Given the description of an element on the screen output the (x, y) to click on. 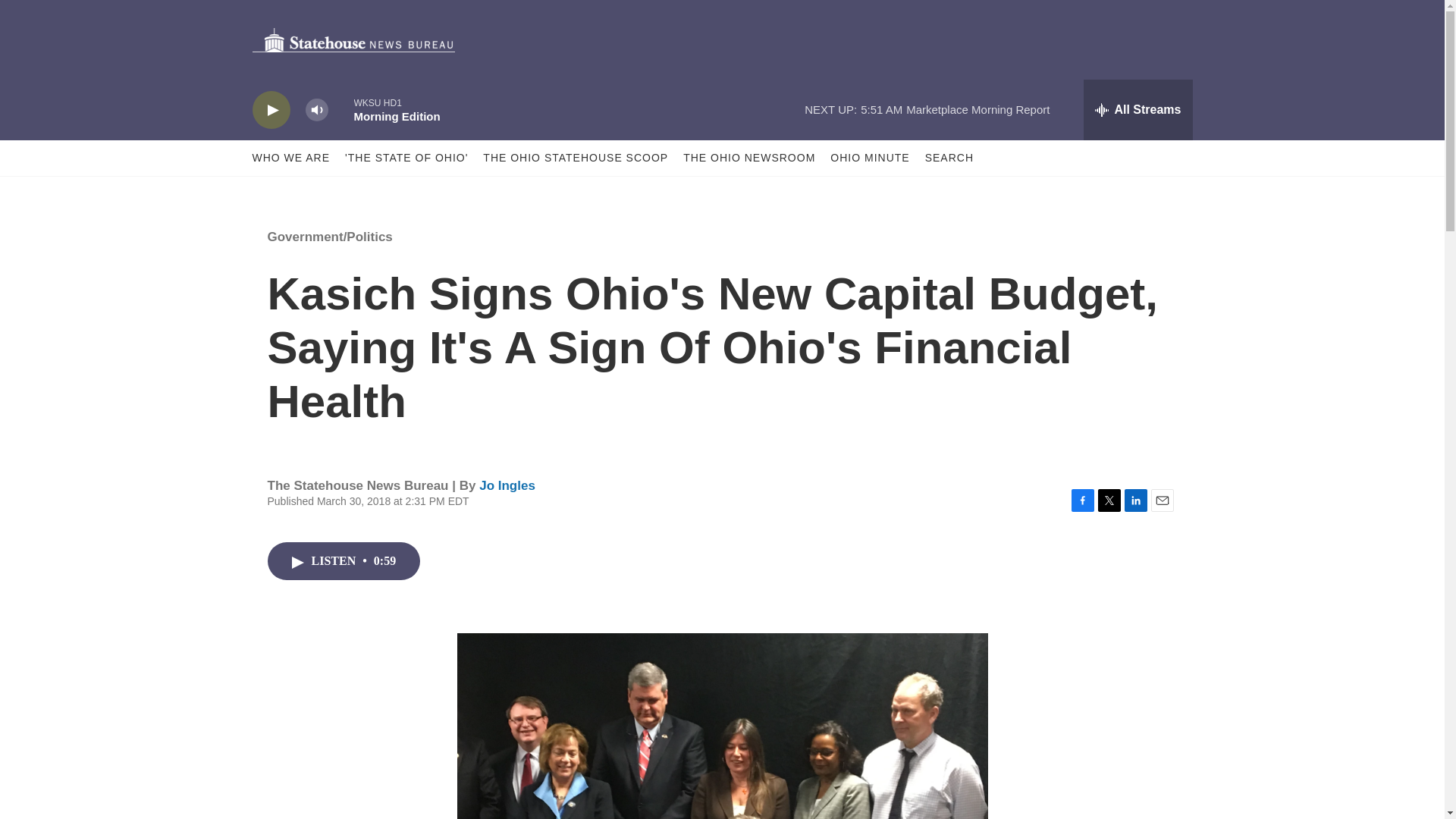
'THE STATE OF OHIO' (406, 158)
SEARCH (949, 158)
LinkedIn (1135, 499)
OHIO MINUTE (868, 158)
All Streams (1137, 109)
Jo Ingles (507, 485)
Facebook (1081, 499)
THE OHIO STATEHOUSE SCOOP (575, 158)
Email (1162, 499)
Twitter (1109, 499)
